Given the description of an element on the screen output the (x, y) to click on. 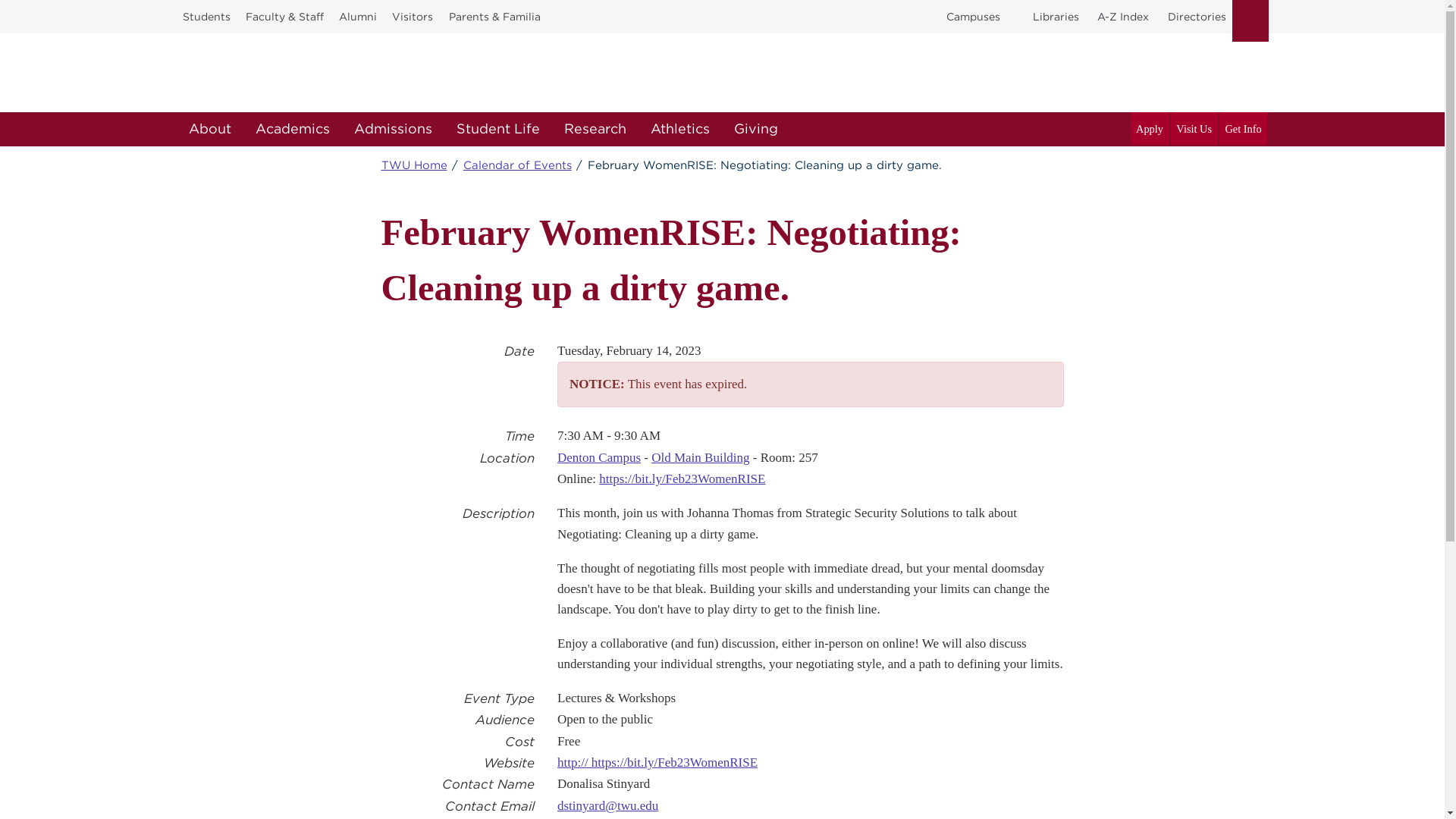
Academics (291, 128)
Campuses (973, 16)
Visitors (412, 16)
Alumni (357, 16)
Libraries (1055, 16)
About (209, 128)
A-Z Index (1122, 16)
Directories (1196, 16)
Students (205, 16)
